Given the description of an element on the screen output the (x, y) to click on. 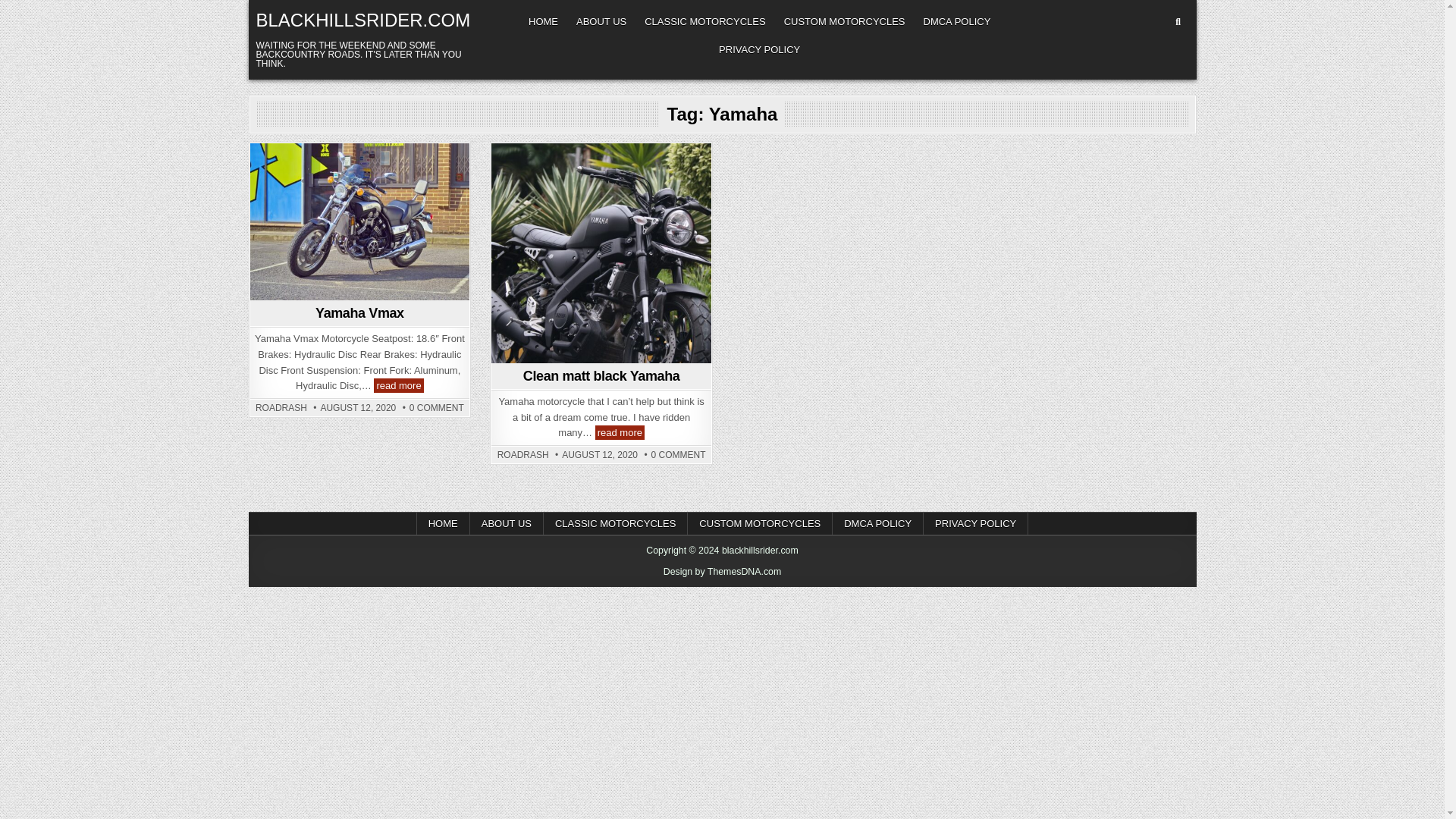
DMCA POLICY (398, 385)
PRIVACY POLICY (877, 523)
HOME (975, 523)
HOME (443, 523)
0 COMMENT (543, 21)
0 COMMENT (436, 407)
ROADRASH (678, 454)
PRIVACY POLICY (522, 454)
CUSTOM MOTORCYCLES (759, 49)
CUSTOM MOTORCYCLES (759, 523)
CLASSIC MOTORCYCLES (844, 21)
Search (704, 21)
Clean matt black Yamaha (1177, 21)
Permanent Link to Yamaha Vmax (600, 376)
